Given the description of an element on the screen output the (x, y) to click on. 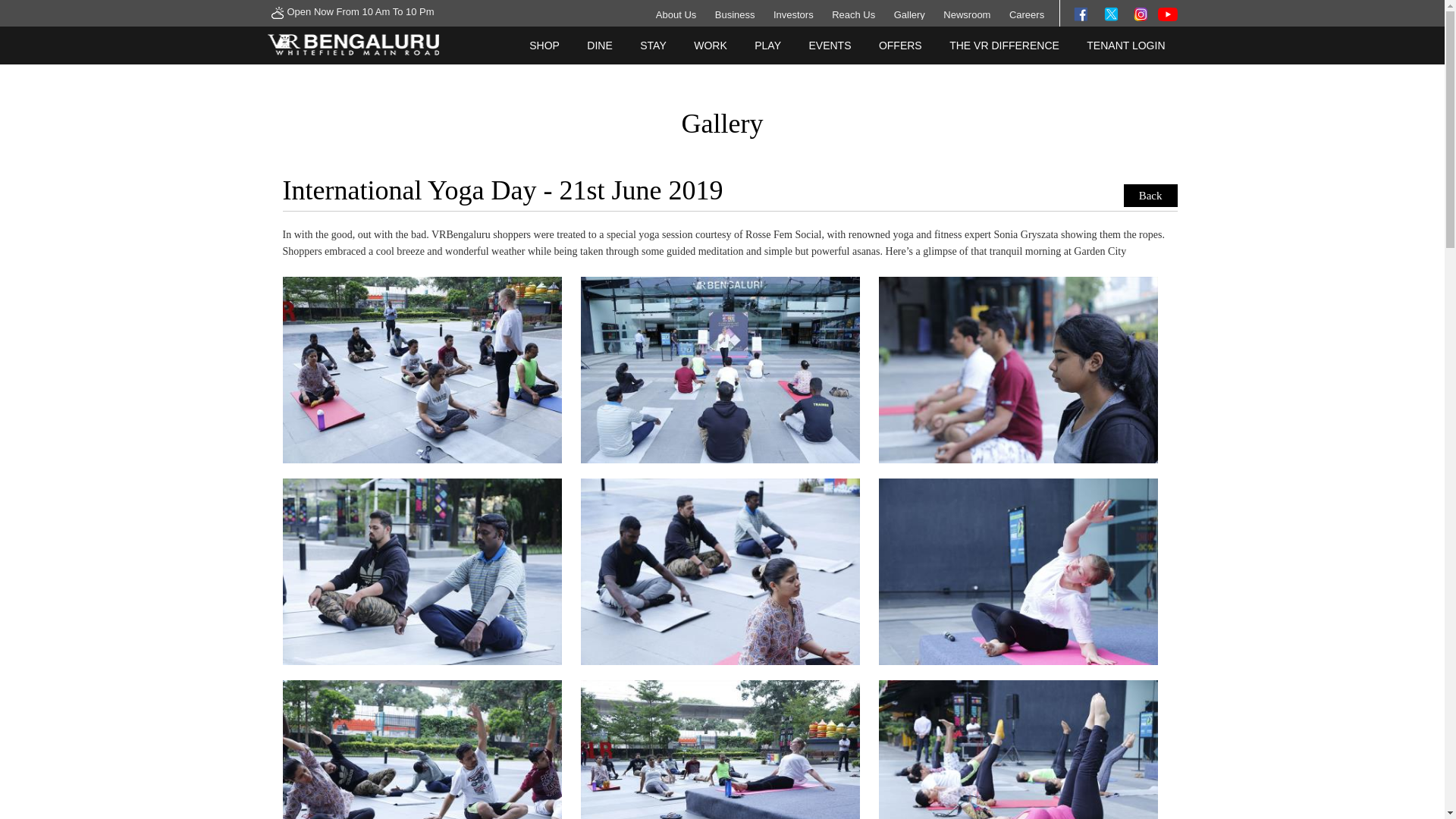
DINE (599, 45)
PLAY (767, 45)
Newsroom (966, 14)
OFFERS (900, 45)
Investors (793, 14)
STAY (652, 45)
WORK (710, 45)
Reach Us (853, 14)
Gallery (908, 14)
Business (734, 14)
